Given the description of an element on the screen output the (x, y) to click on. 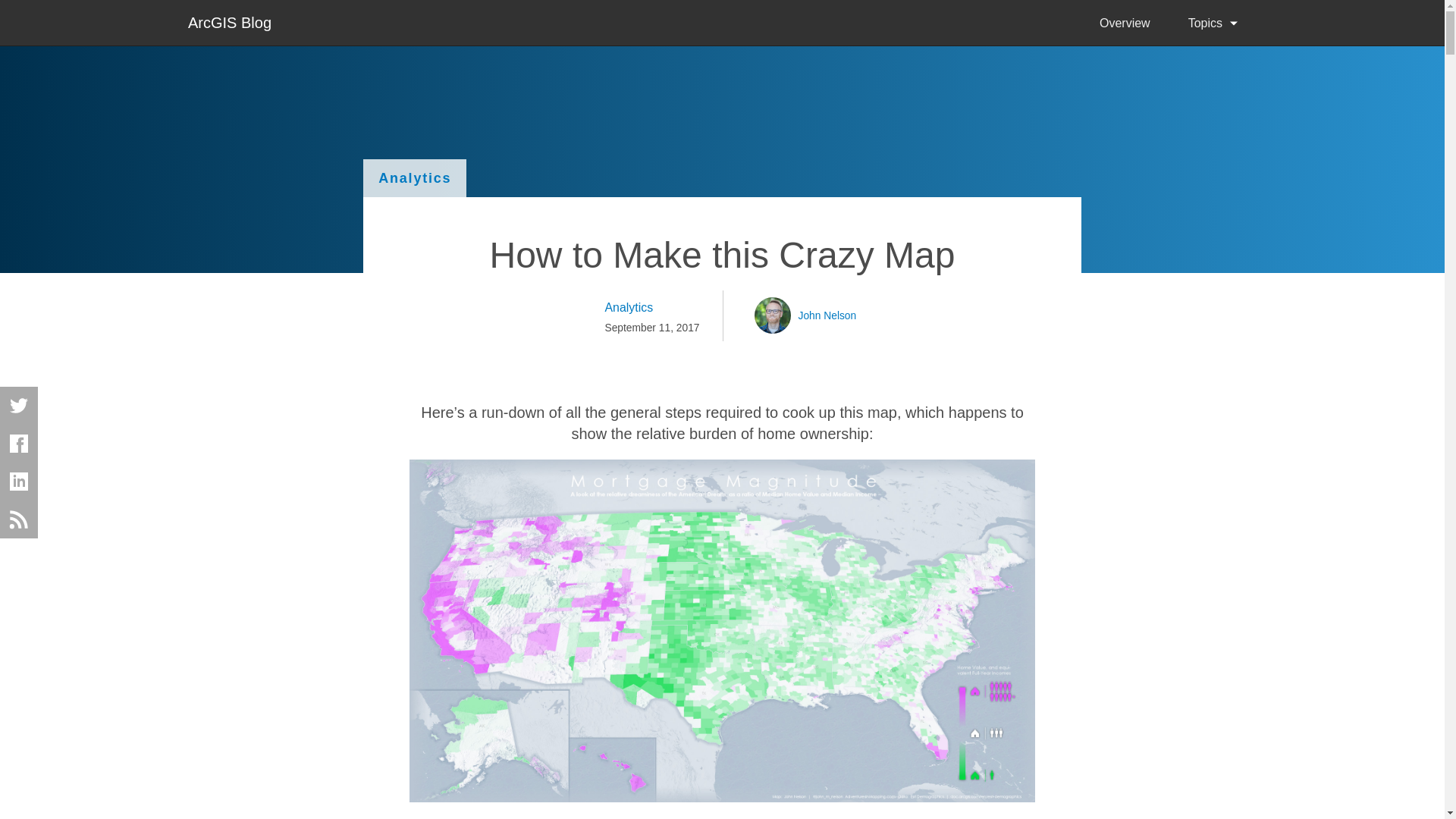
Analytics (413, 177)
ArcGIS Blog (228, 21)
Topics (1212, 22)
Overview (1124, 22)
John Nelson (826, 315)
Click to embiggen... (722, 796)
Analytics (651, 307)
